Given the description of an element on the screen output the (x, y) to click on. 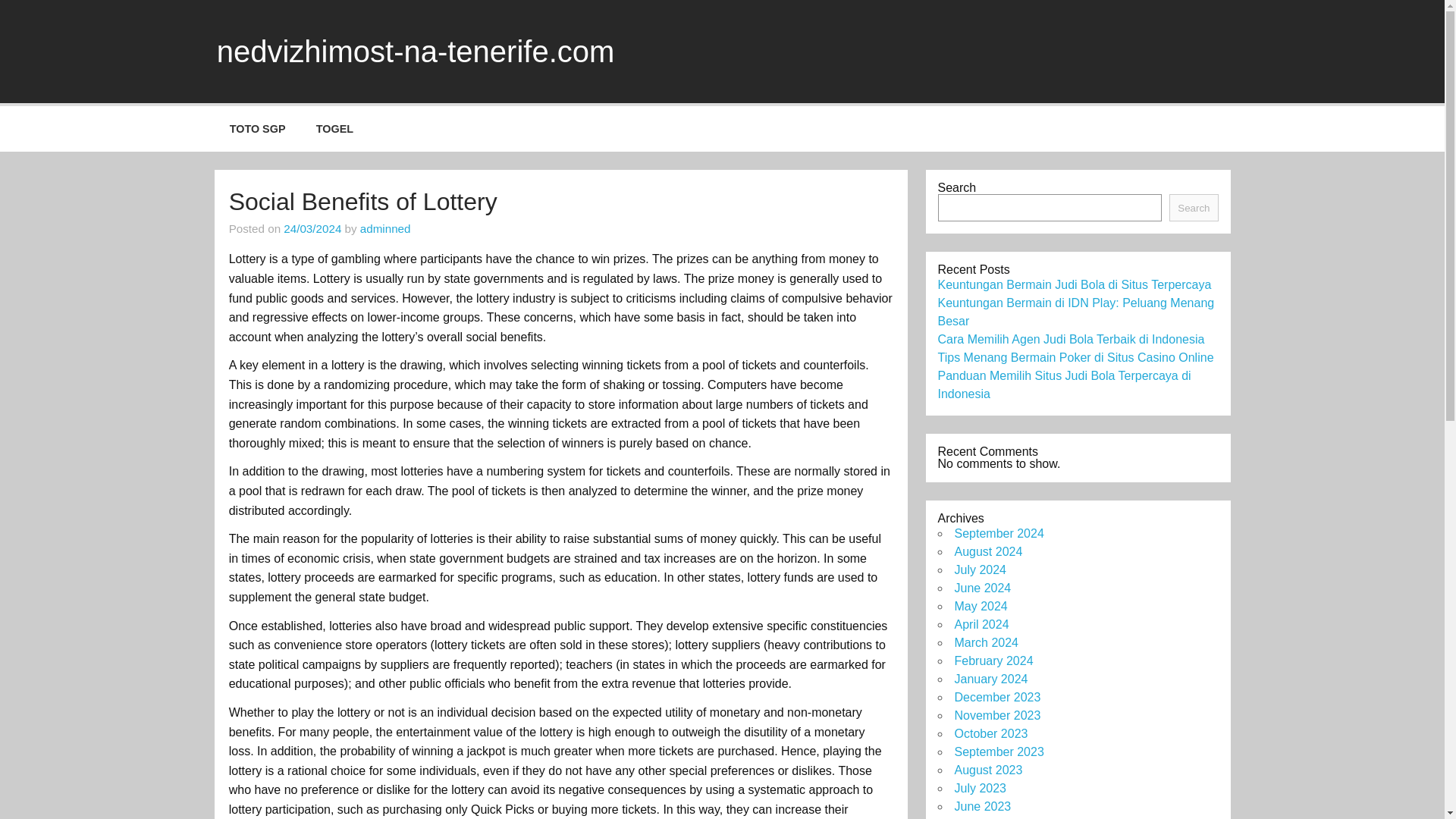
September 2024 (998, 533)
Panduan Memilih Situs Judi Bola Terpercaya di Indonesia (1064, 384)
January 2024 (990, 678)
May 2023 (980, 818)
May 2024 (980, 605)
October 2023 (990, 733)
November 2023 (997, 715)
August 2024 (987, 551)
View all posts by adminned (384, 228)
TOGEL (335, 128)
